Given the description of an element on the screen output the (x, y) to click on. 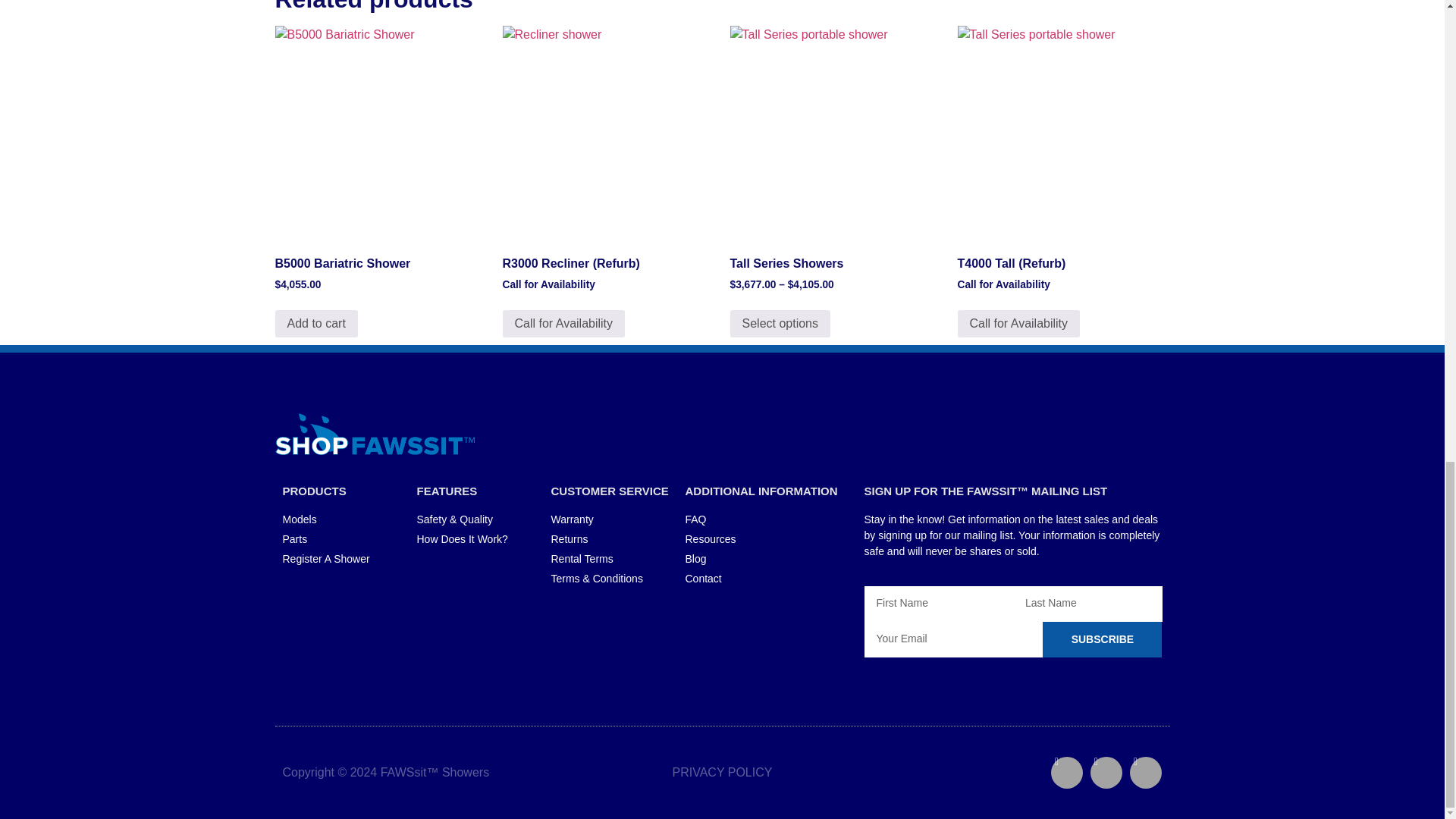
Add to cart (315, 323)
